Given the description of an element on the screen output the (x, y) to click on. 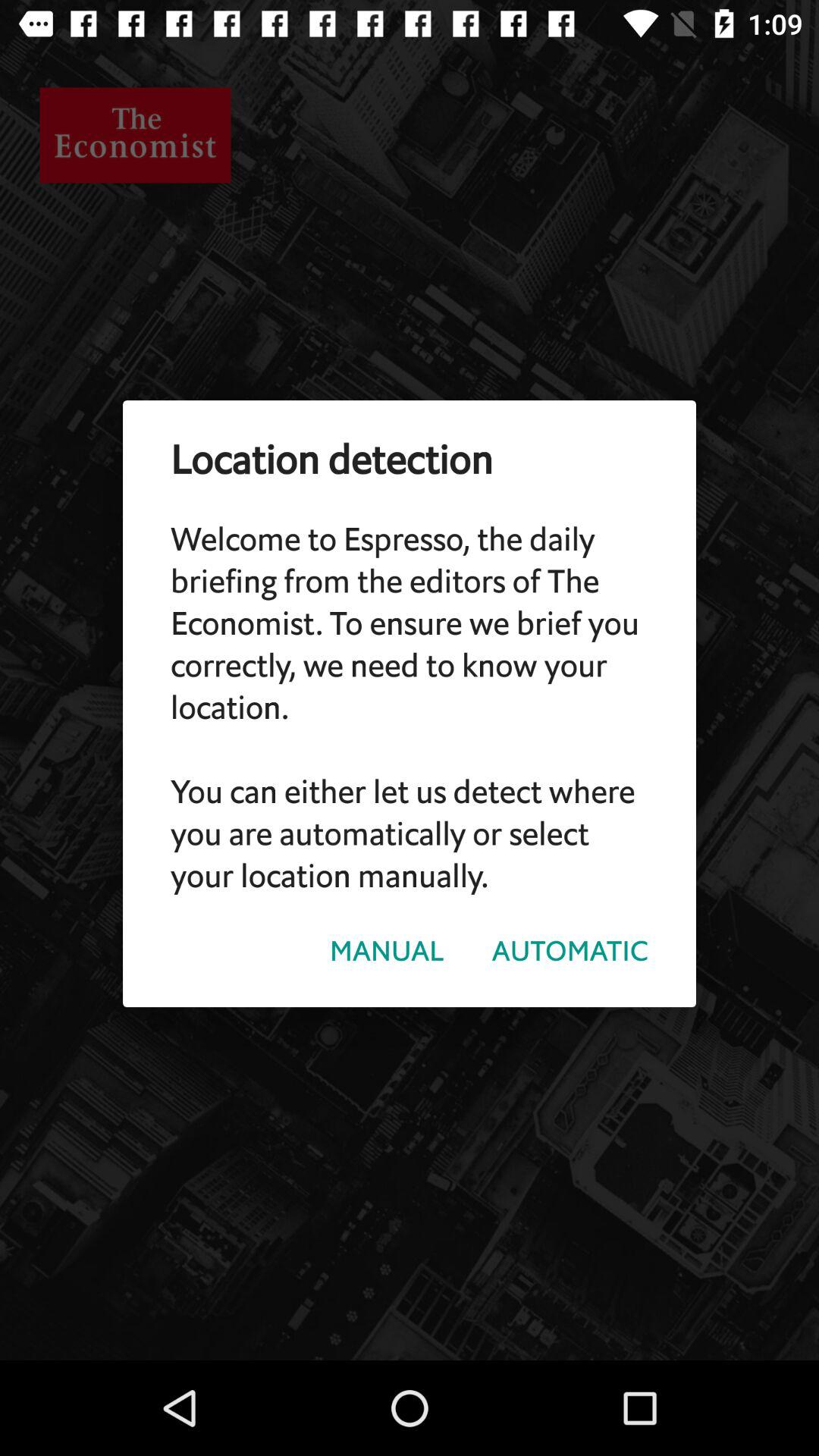
choose the automatic icon (570, 951)
